Given the description of an element on the screen output the (x, y) to click on. 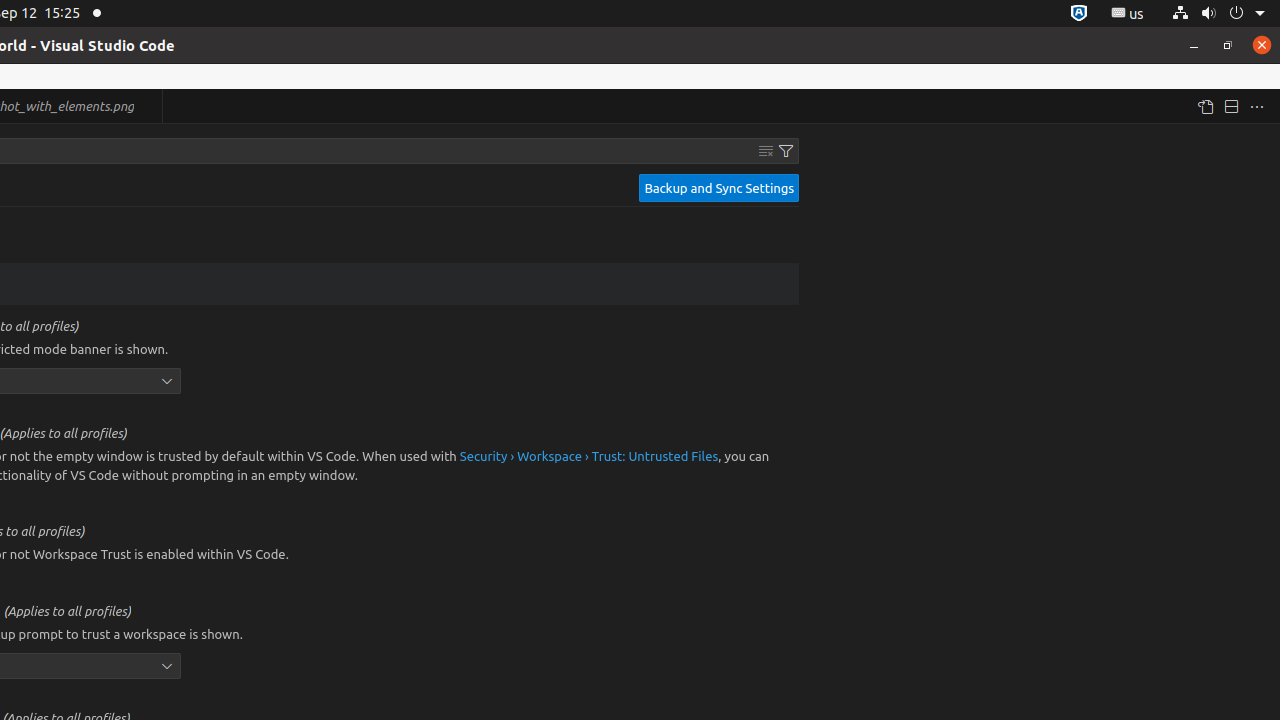
Close (Ctrl+W) Element type: push-button (148, 106)
